Given the description of an element on the screen output the (x, y) to click on. 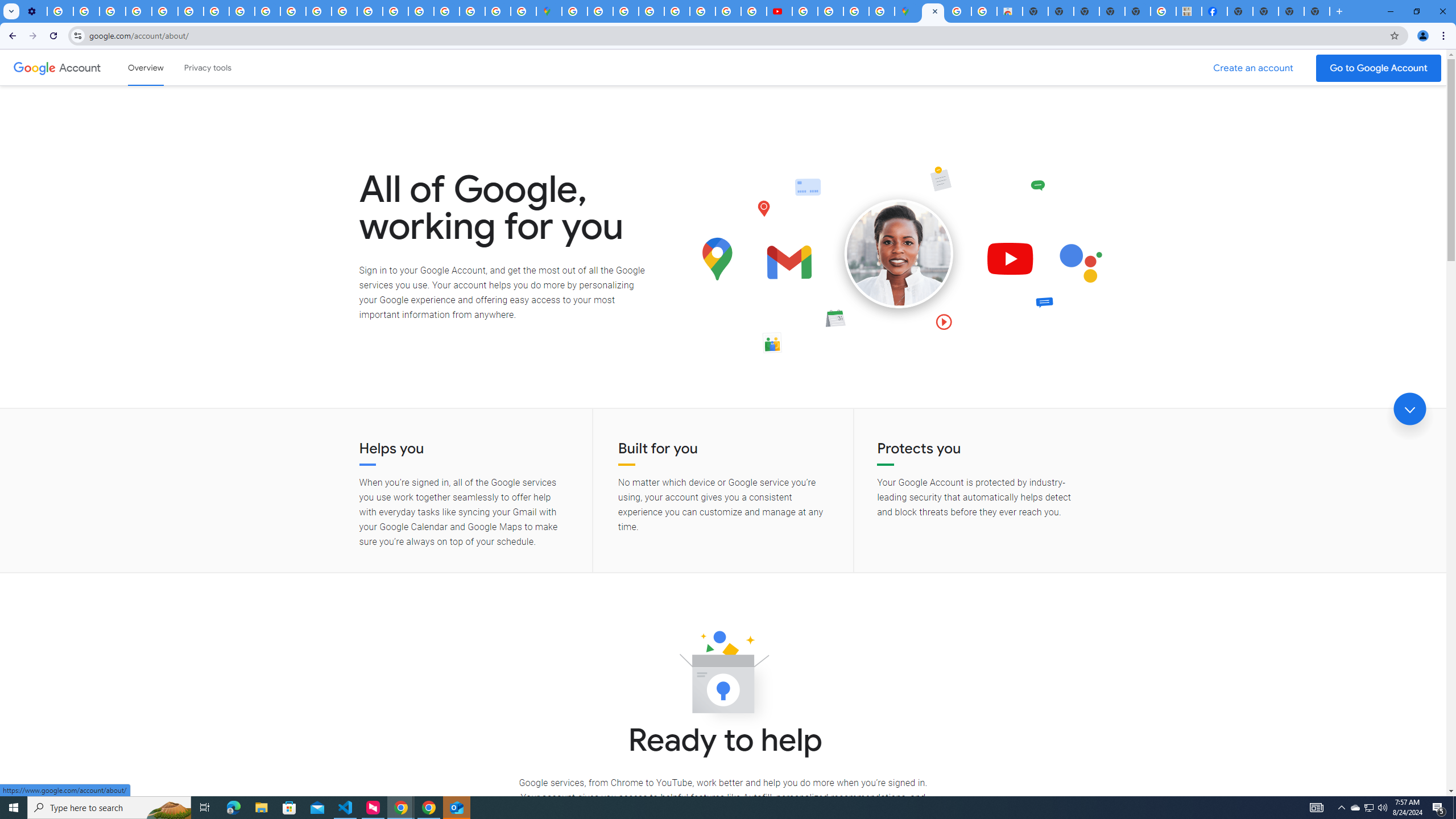
Google logo (34, 67)
How Chrome protects your passwords - Google Chrome Help (804, 11)
Terms and Conditions (676, 11)
New Tab (1239, 11)
Privacy tools (207, 67)
